Given the description of an element on the screen output the (x, y) to click on. 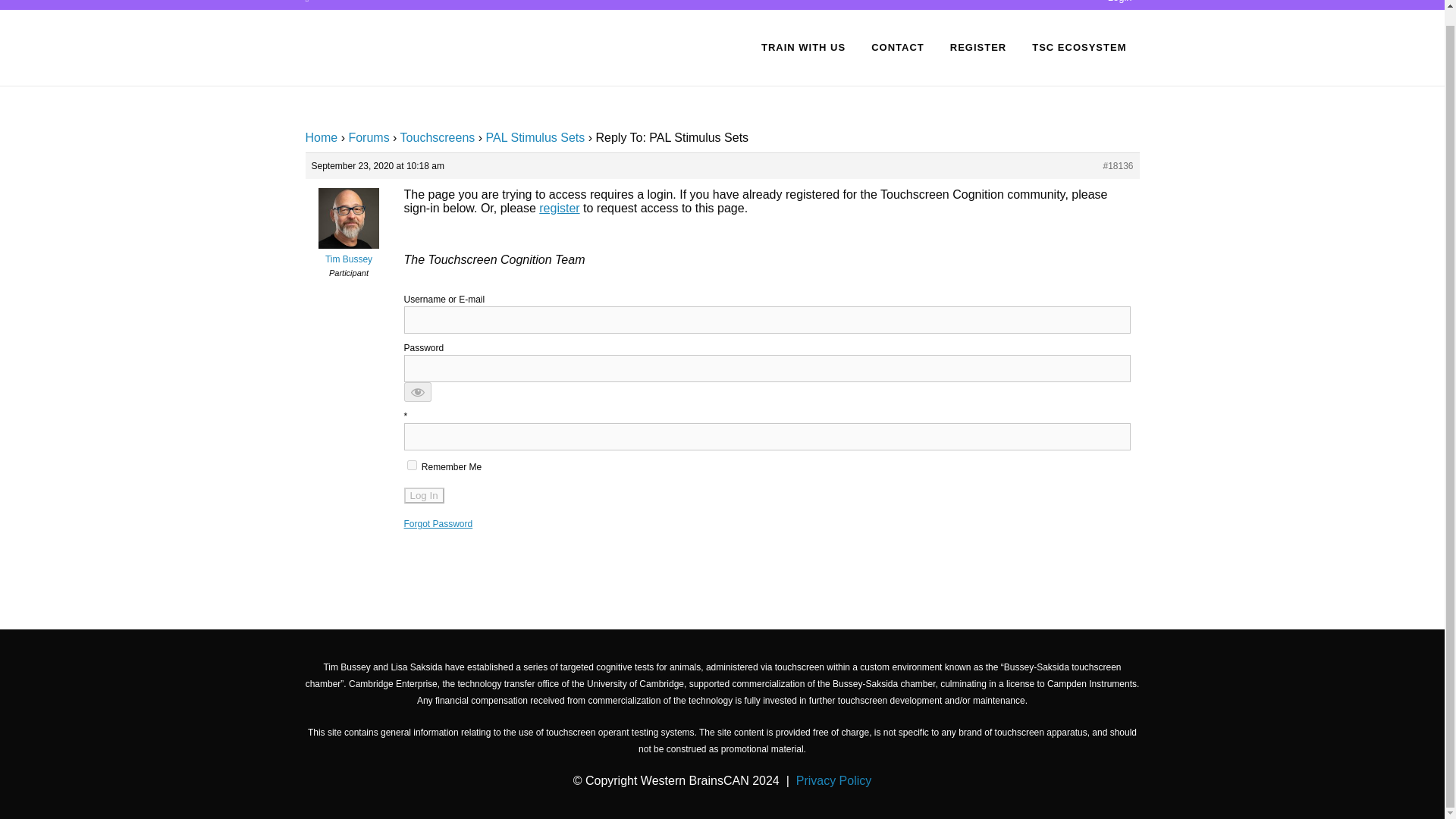
Login (1120, 1)
Log In (423, 495)
Privacy Policy (834, 780)
Log In (423, 495)
TRAIN WITH US (803, 47)
PAL Stimulus Sets (535, 137)
forever (411, 465)
TSC ECOSYSTEM (1078, 47)
CONTACT (898, 47)
Forgot Password (437, 523)
Touchscreens (438, 137)
Tim Bussey (347, 253)
Forums (367, 137)
register (558, 207)
REGISTER (978, 47)
